Given the description of an element on the screen output the (x, y) to click on. 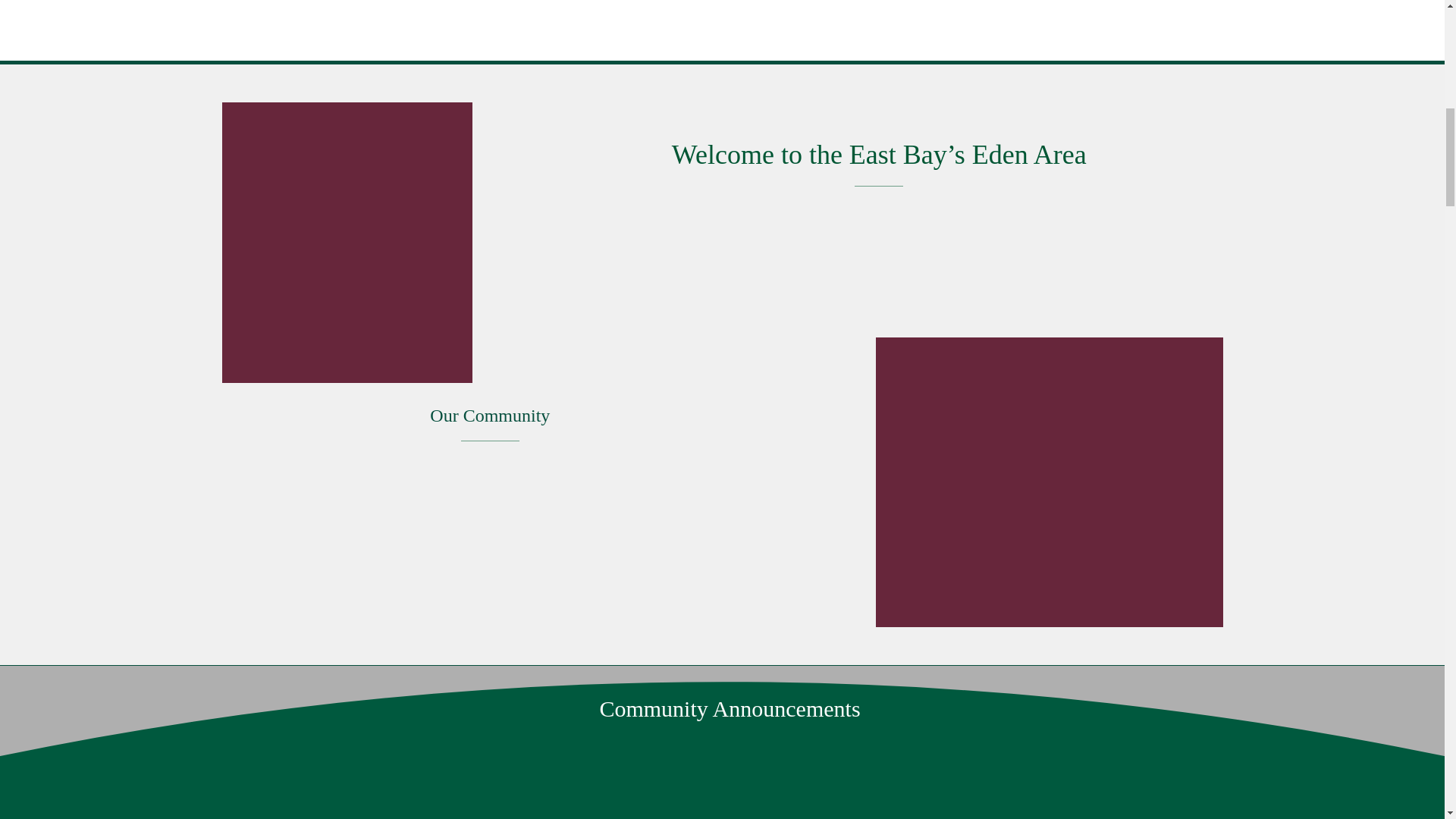
FallFest24lowres (721, 797)
